Given the description of an element on the screen output the (x, y) to click on. 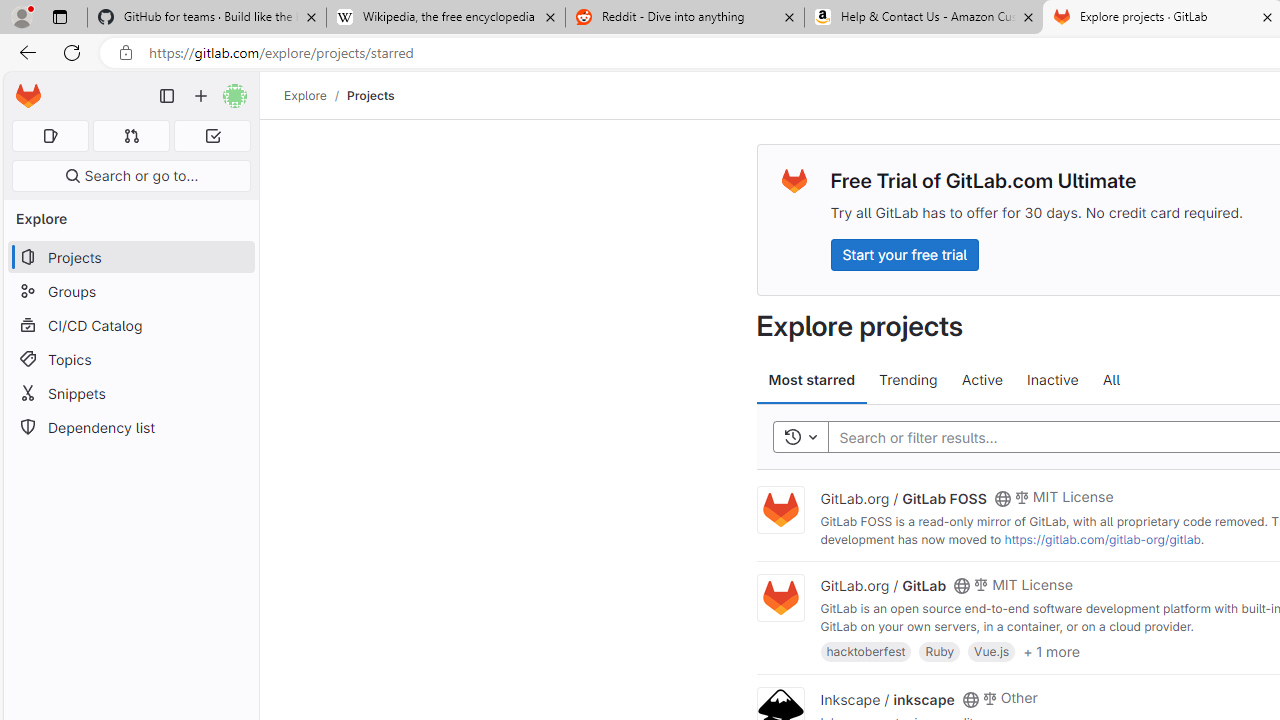
Explore/ (316, 95)
Inkscape / inkscape (887, 698)
Homepage (27, 96)
hacktoberfest (866, 650)
Groups (130, 291)
CI/CD Catalog (130, 325)
Topics (130, 358)
Inactive (1052, 379)
Explore (305, 95)
Toggle history (800, 437)
https://gitlab.com/gitlab-org/gitlab (1101, 539)
Class: s16 (970, 699)
